Given the description of an element on the screen output the (x, y) to click on. 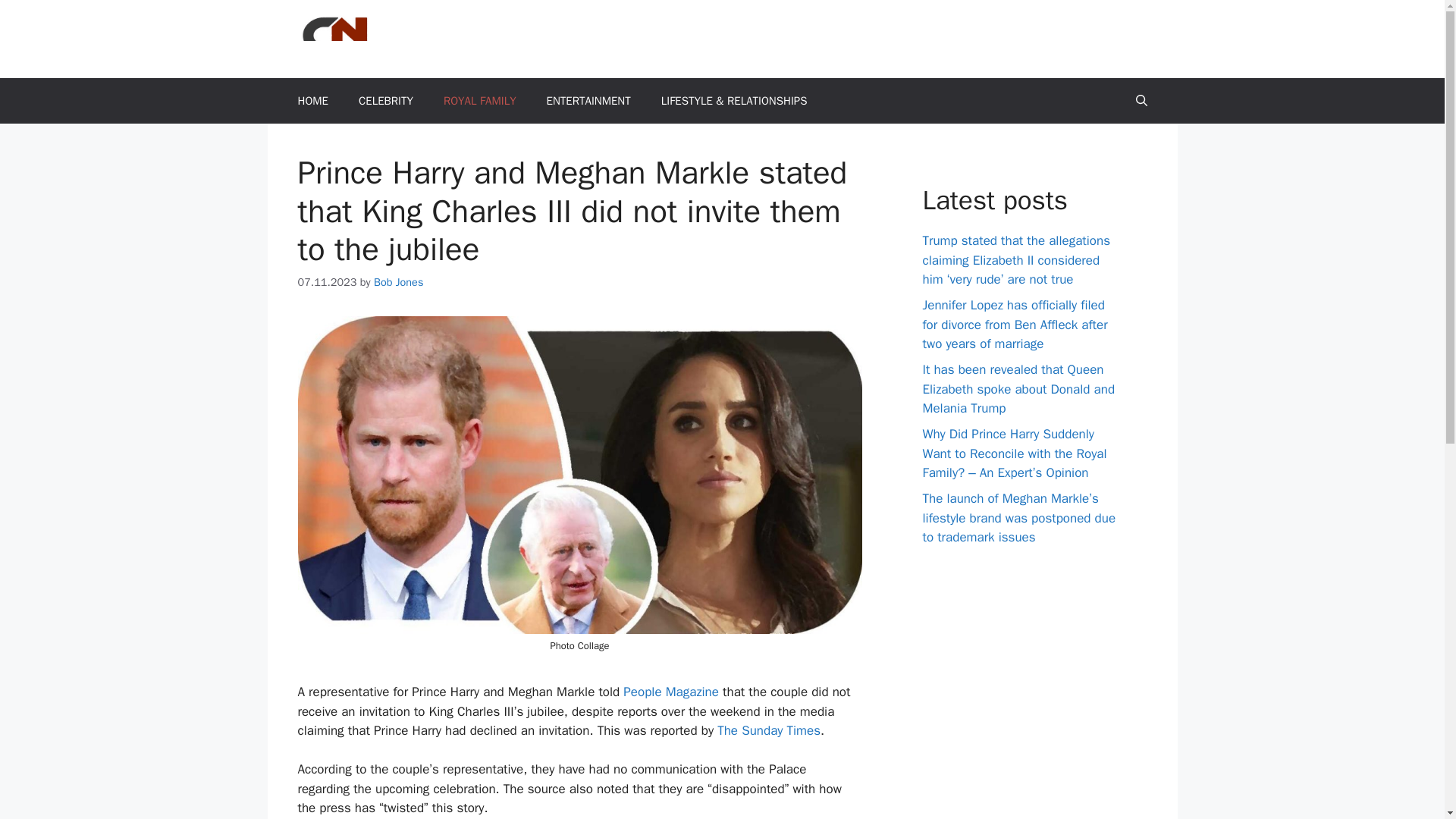
People Magazine (671, 691)
The Sunday Times (769, 730)
Bob Jones (398, 282)
ENTERTAINMENT (588, 100)
View all posts by Bob Jones (398, 282)
ROYAL FAMILY (479, 100)
HOME (312, 100)
CELEBRITY (385, 100)
